Given the description of an element on the screen output the (x, y) to click on. 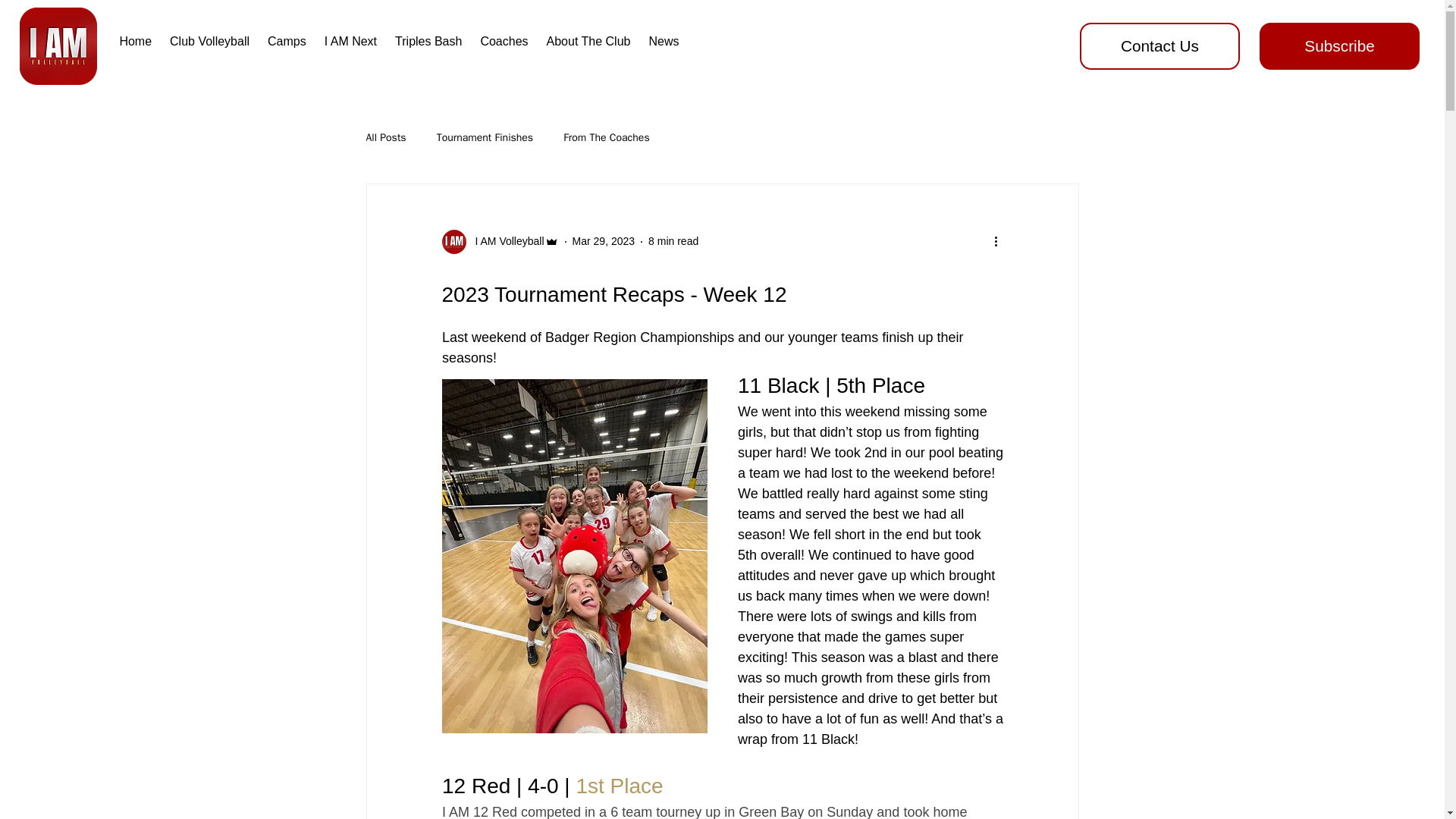
Home (135, 41)
All Posts (385, 137)
News (662, 41)
From The Coaches (606, 137)
I AM Volleyball (499, 241)
Tournament Finishes (485, 137)
I AM Next (350, 41)
About The Club (588, 41)
Coaches (503, 41)
Triples Bash (427, 41)
I AM Volleyball (504, 241)
Contact Us (1160, 46)
Subscribe (1339, 46)
Mar 29, 2023 (603, 241)
